Given the description of an element on the screen output the (x, y) to click on. 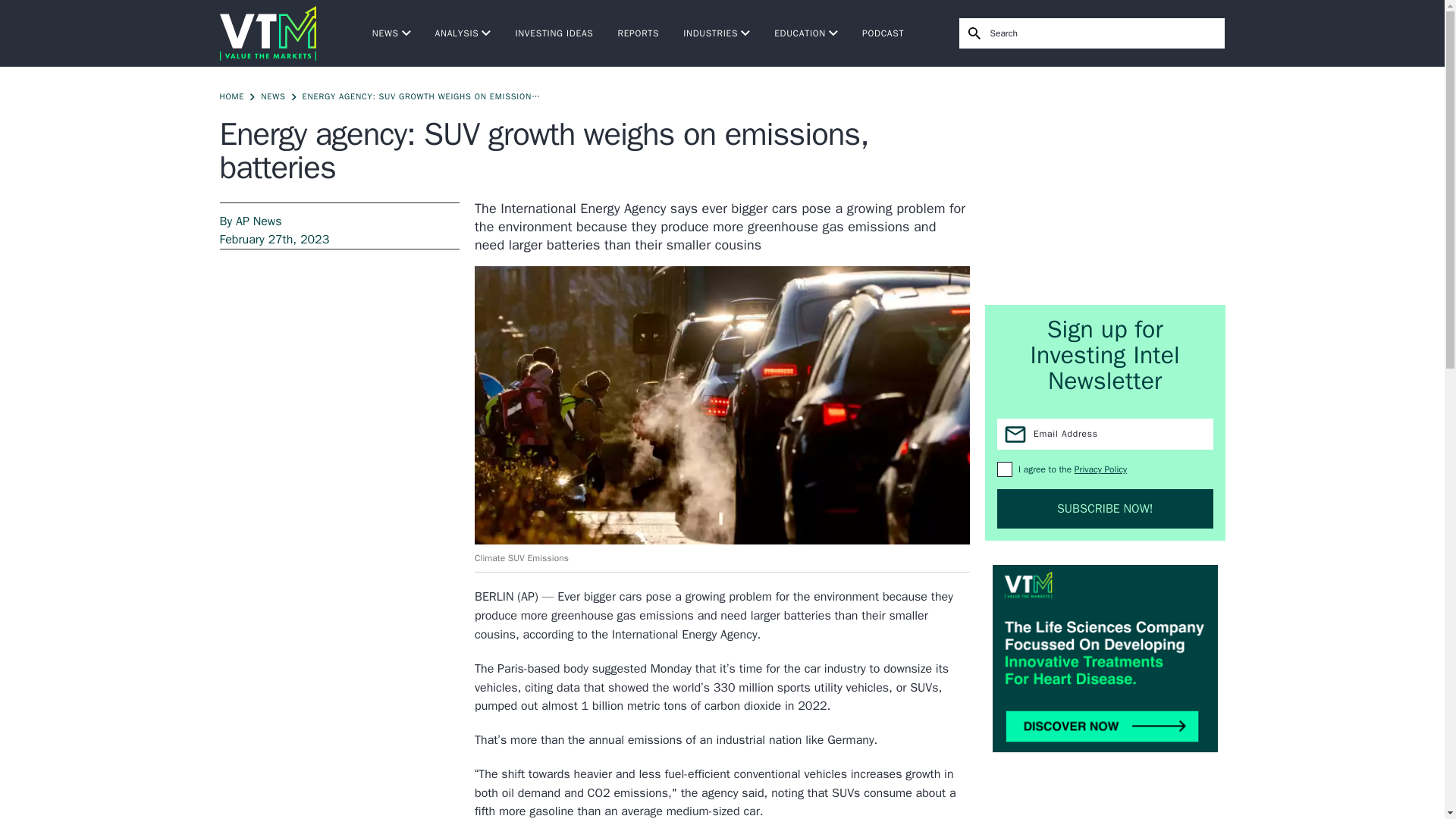
INVESTING IDEAS (553, 33)
INDUSTRIES (715, 33)
EDUCATION (806, 33)
REPORTS (638, 33)
NEWS (391, 33)
Yes (1004, 468)
PODCAST (882, 33)
ANALYSIS (463, 33)
Advertisement (1105, 185)
